Given the description of an element on the screen output the (x, y) to click on. 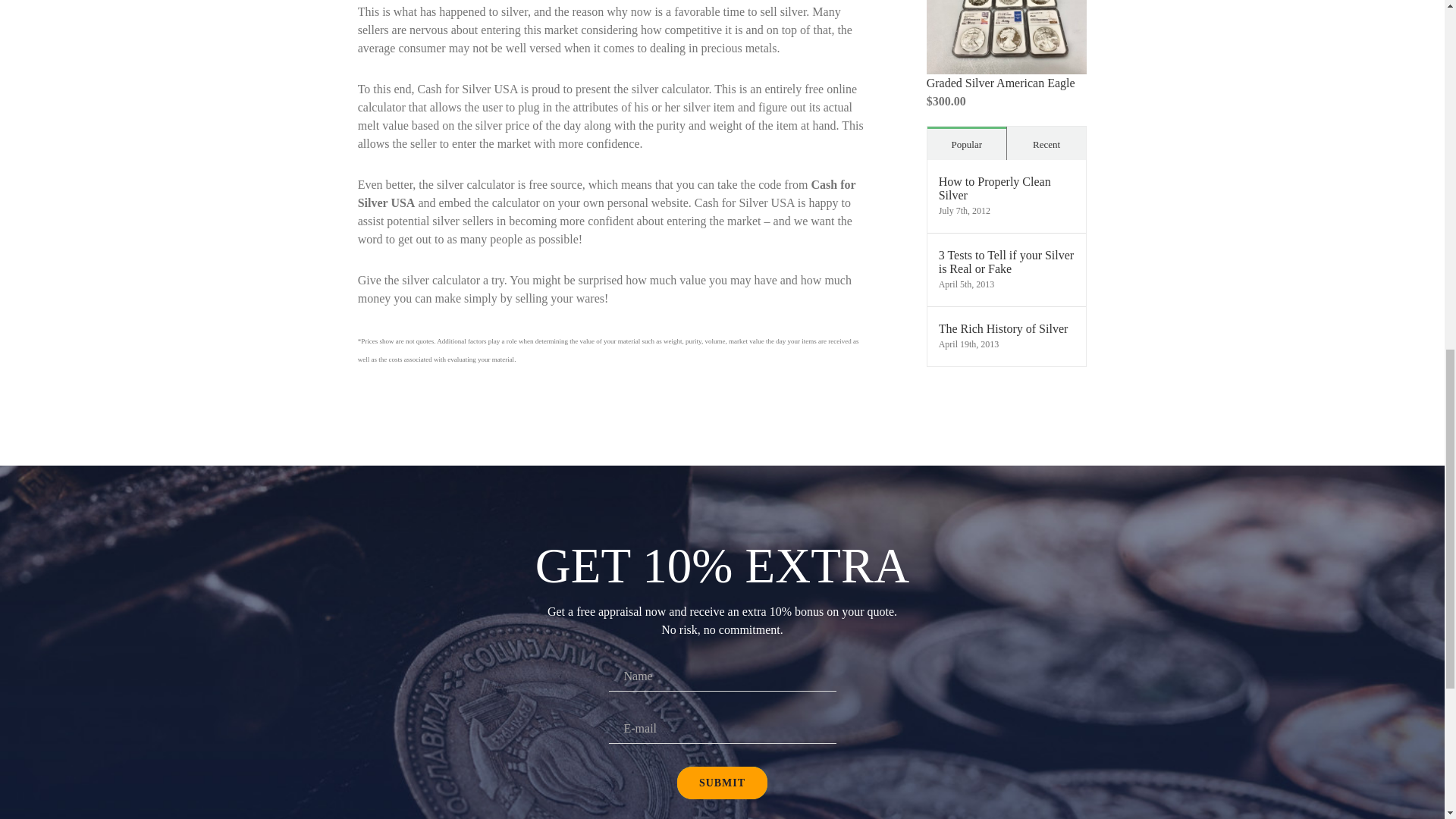
The Rich History of Silver (1007, 328)
3 Tests to Tell if your Silver is Real or Fake (1007, 262)
How to Properly Clean Silver (1007, 188)
Graded Silver American Eagle (1000, 82)
Recent (1046, 143)
Popular (966, 143)
